Given the description of an element on the screen output the (x, y) to click on. 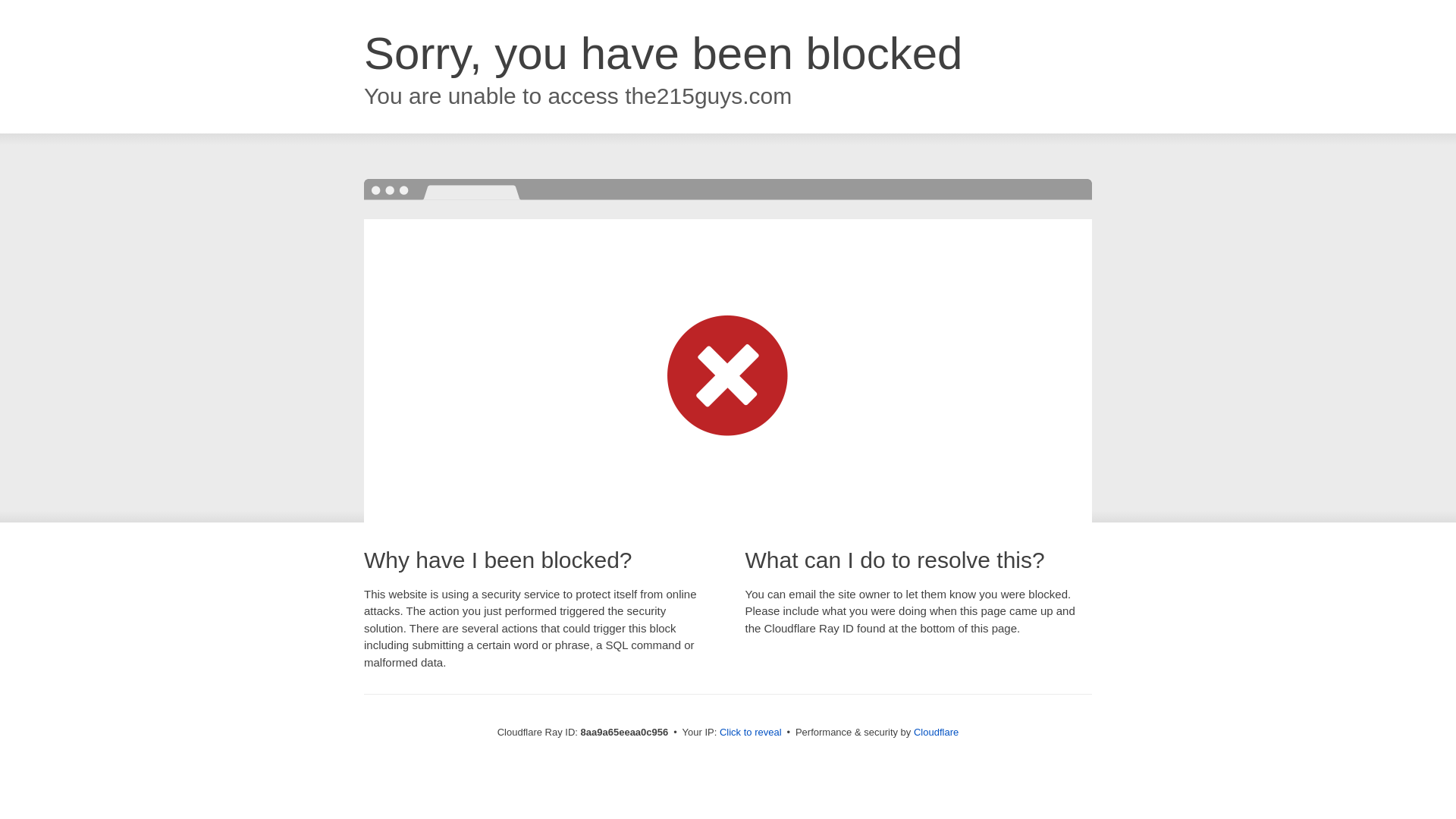
Cloudflare (936, 731)
Click to reveal (750, 732)
